Given the description of an element on the screen output the (x, y) to click on. 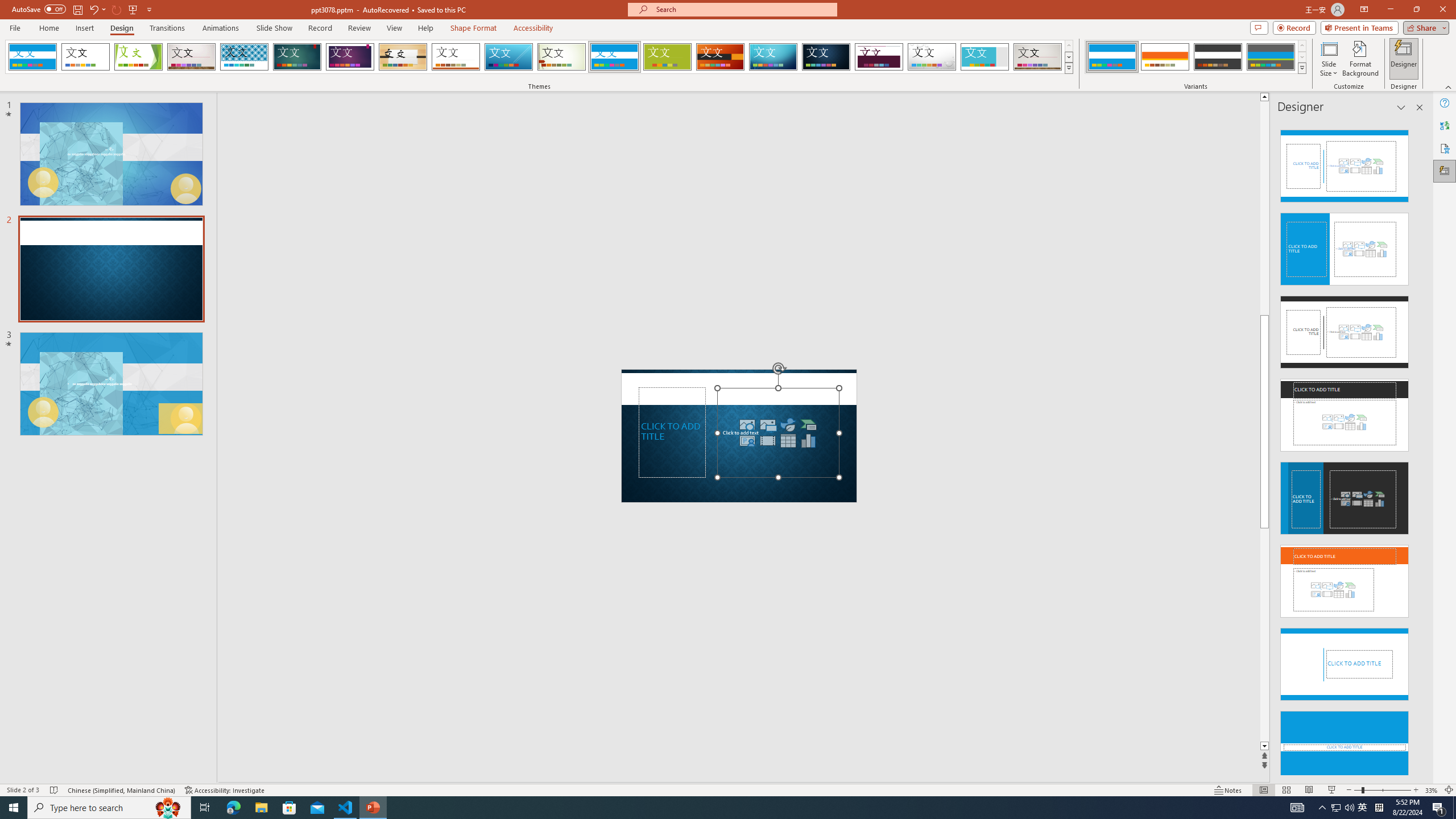
Zoom 33% (1431, 790)
Shape Format (473, 28)
Insert a SmartArt Graphic (808, 424)
AutomationID: ThemeVariantsGallery (1195, 56)
